Given the description of an element on the screen output the (x, y) to click on. 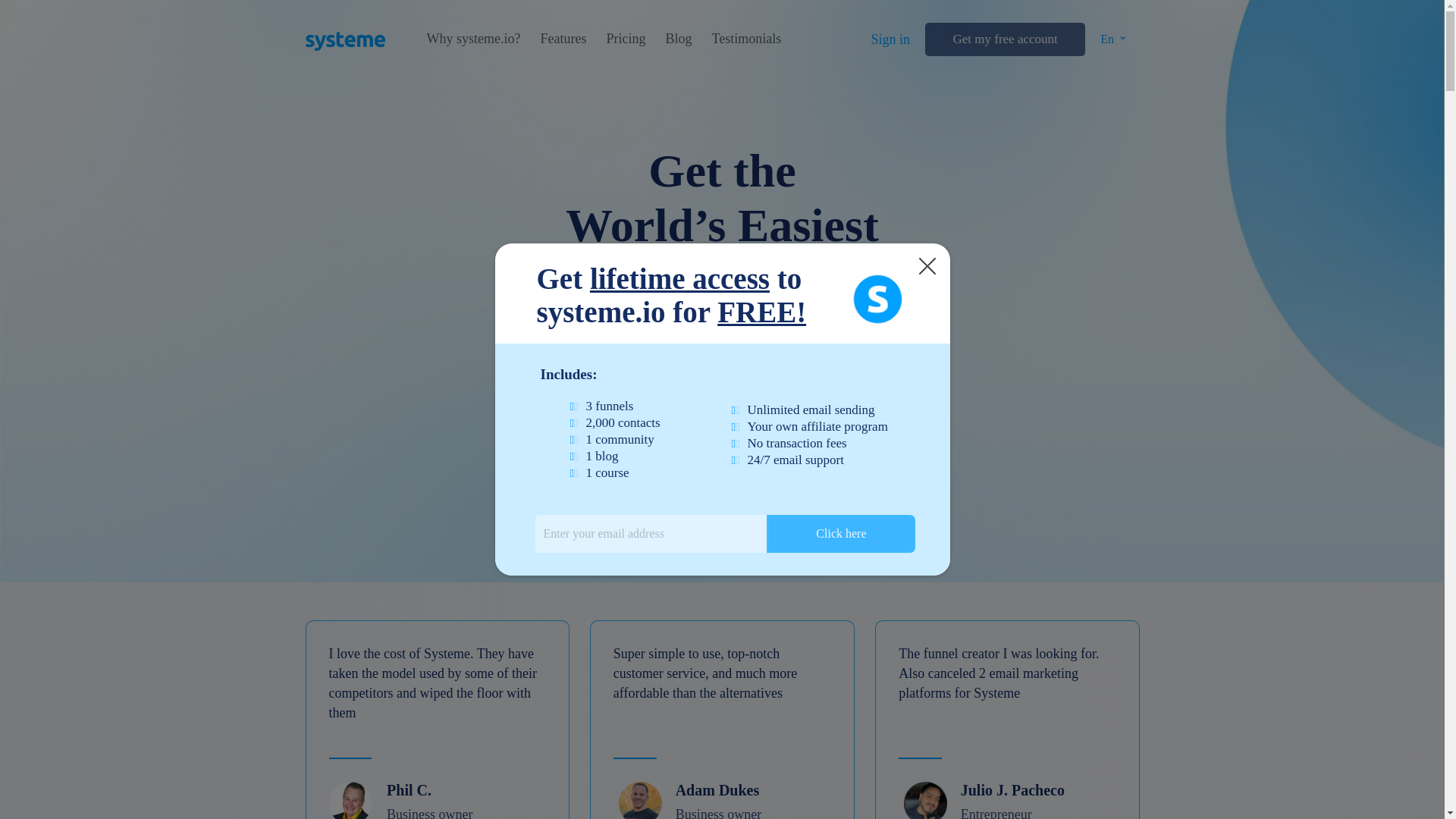
Testimonials (745, 38)
Pricing (625, 38)
Get my free account (1004, 39)
Sign in (890, 39)
Features (563, 38)
Blog (678, 38)
Why systeme.io? (472, 38)
